Given the description of an element on the screen output the (x, y) to click on. 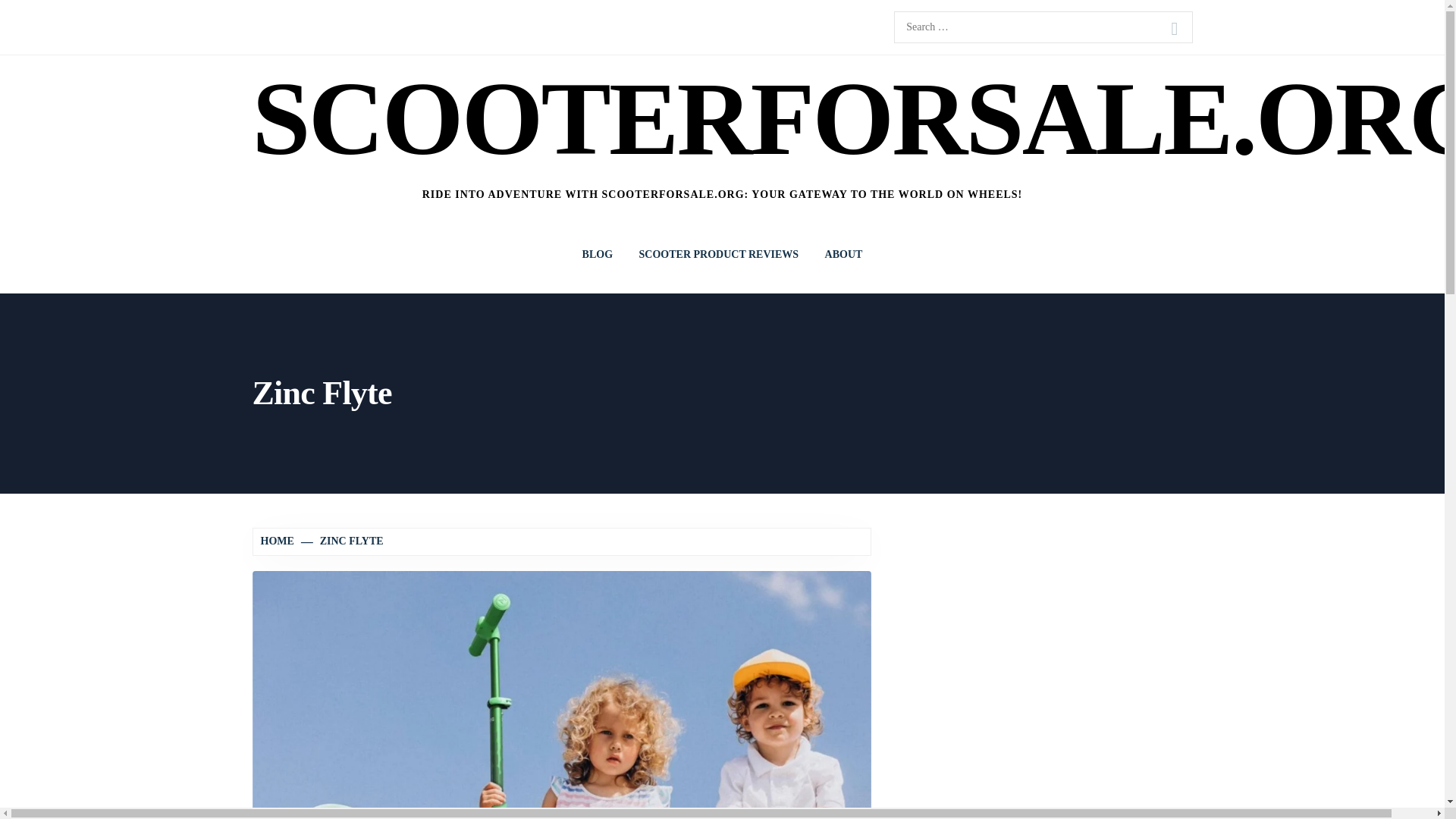
ABOUT (844, 254)
Search (1174, 28)
Zinc Flyte Scooter Review (560, 743)
Search (1174, 28)
Search (1174, 28)
ZINC FLYTE (343, 541)
HOME (279, 541)
BLOG (597, 254)
SCOOTER PRODUCT REVIEWS (718, 254)
